Given the description of an element on the screen output the (x, y) to click on. 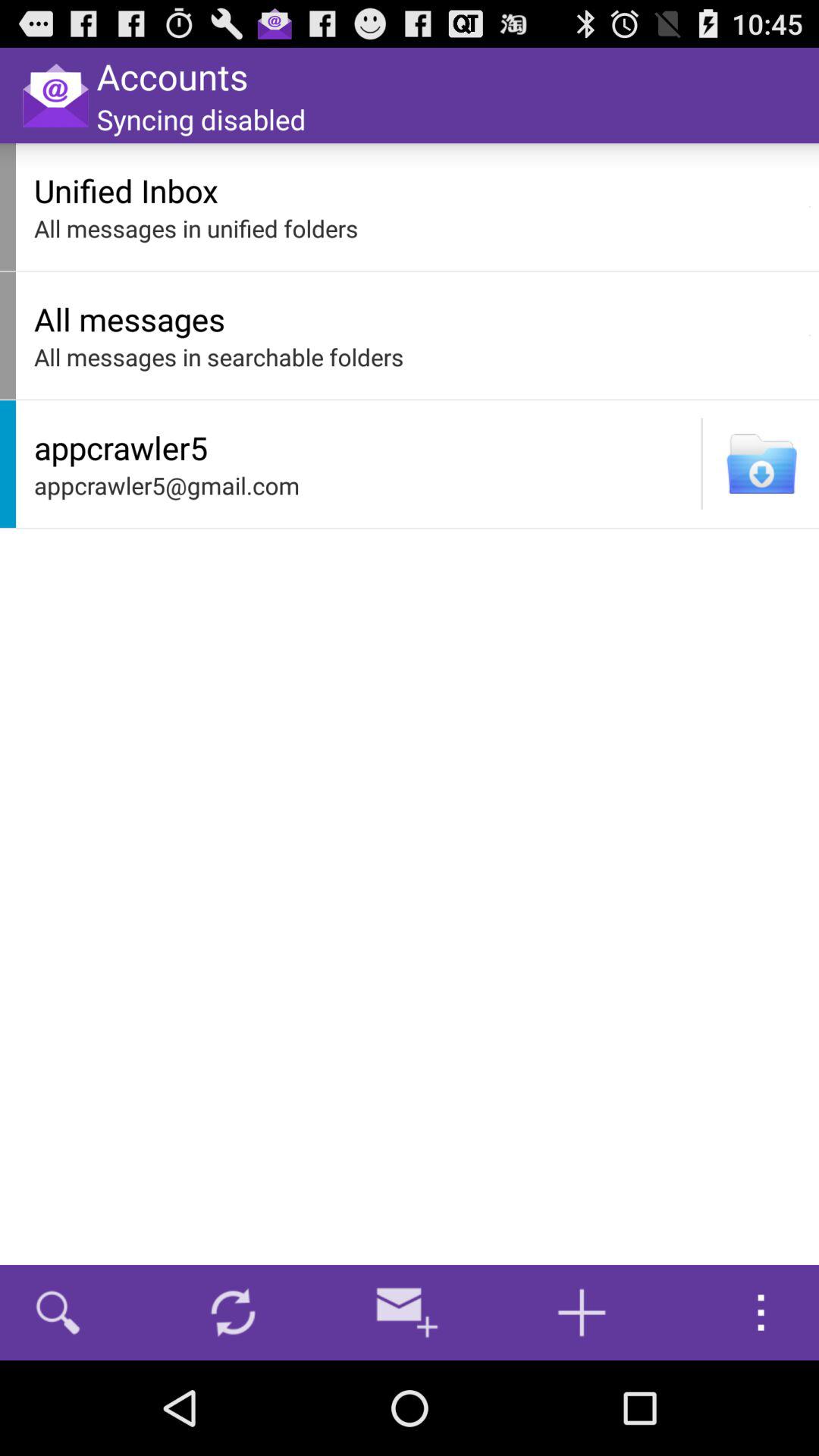
press unified inbox icon (417, 190)
